Given the description of an element on the screen output the (x, y) to click on. 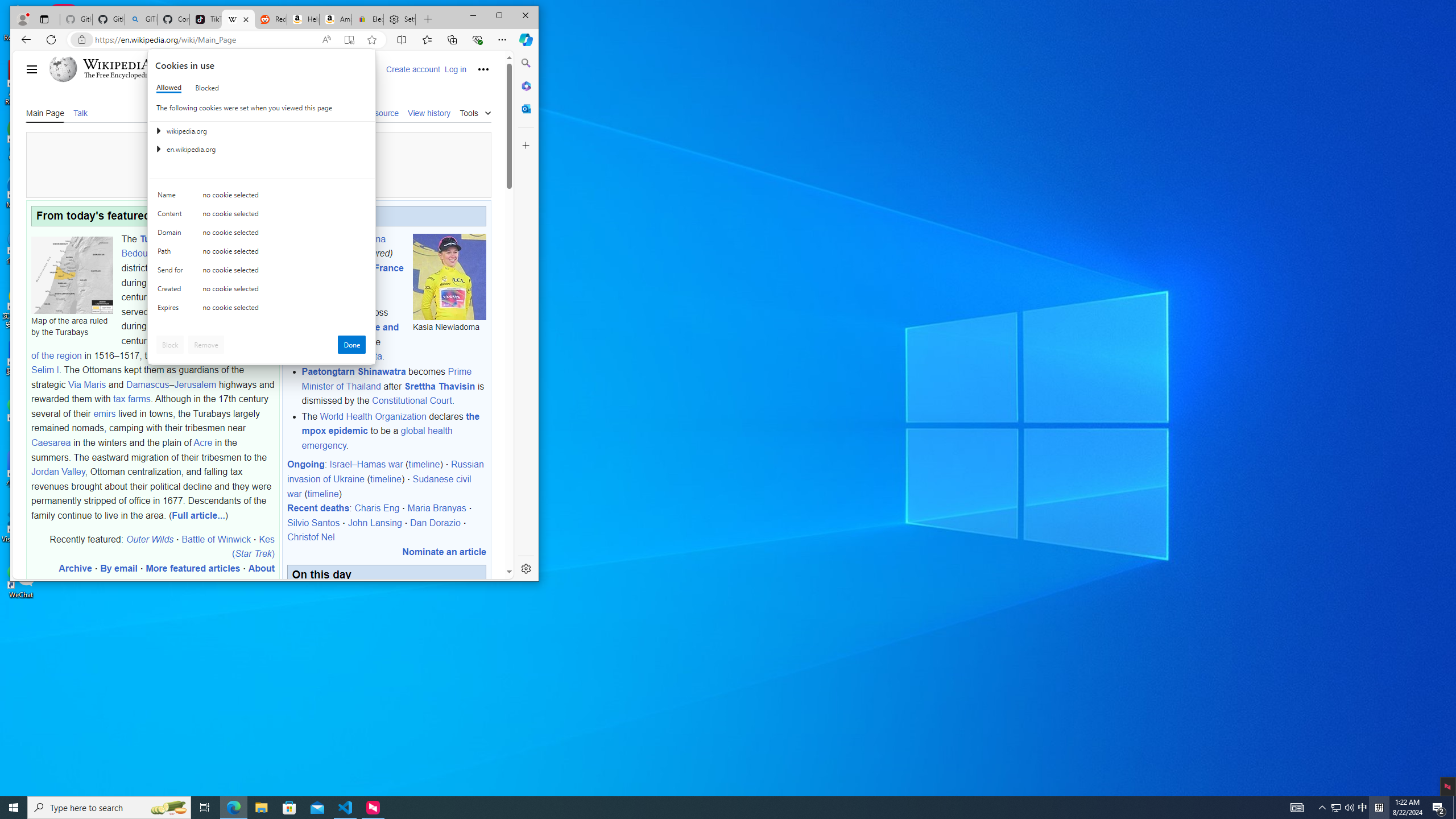
Notification Chevron (1362, 807)
Action Center, 2 new notifications (1322, 807)
Block (1439, 807)
Remove (169, 344)
Domain (205, 344)
Microsoft Store (172, 235)
Allowed (289, 807)
Visual Studio Code - 1 running window (169, 87)
Name (345, 807)
Microsoft Edge - 1 running window (172, 197)
Send for (233, 807)
Show desktop (172, 272)
